Given the description of an element on the screen output the (x, y) to click on. 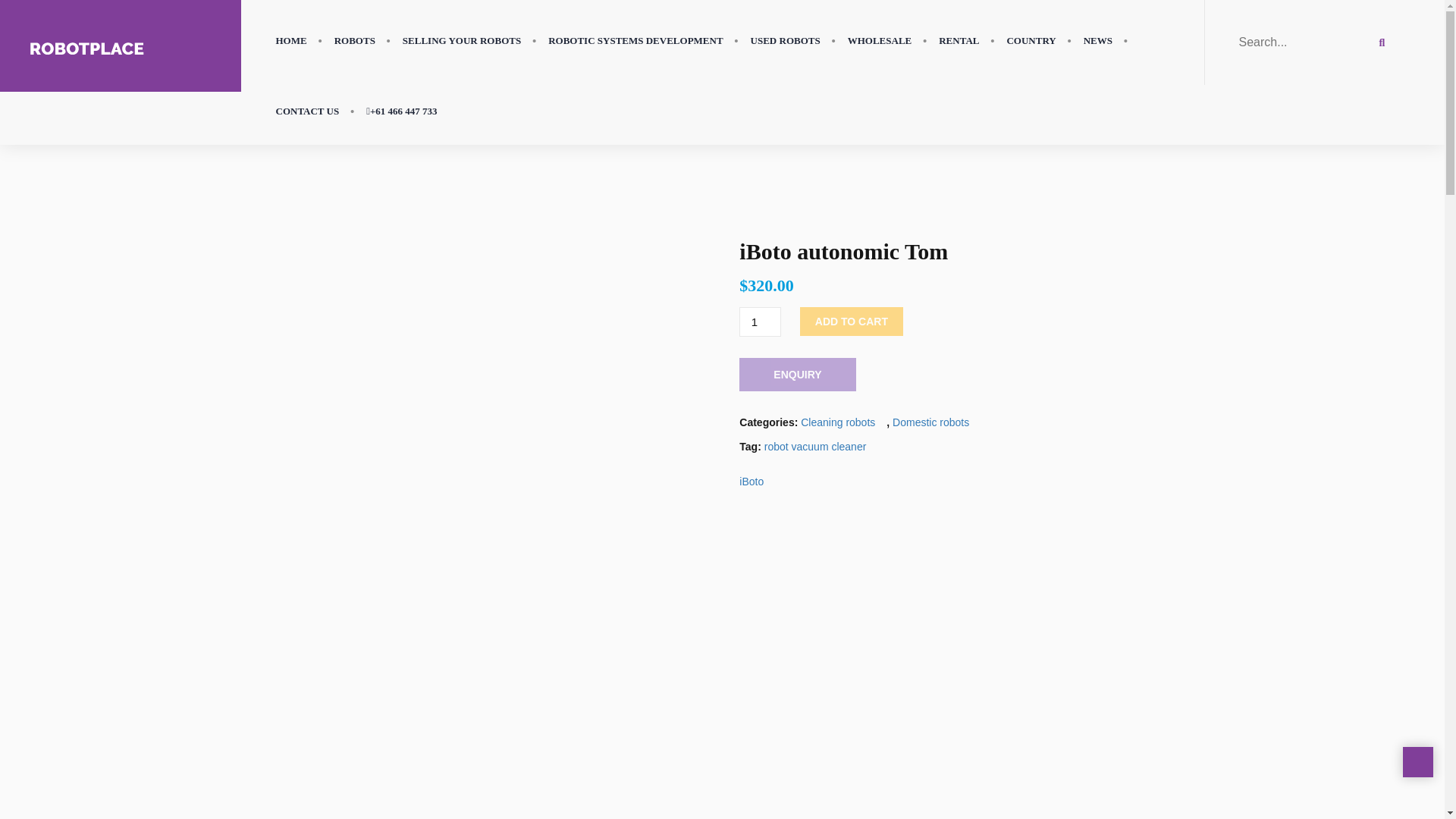
ENQUIRY (797, 374)
USED ROBOTS (785, 40)
SELLING YOUR ROBOTS (461, 40)
COUNTRY (1030, 40)
RENTAL (958, 40)
ROBOTS (354, 40)
WHOLESALE (880, 40)
1 (759, 321)
View brand (750, 482)
ROBOTIC SYSTEMS DEVELOPMENT (635, 40)
